Given the description of an element on the screen output the (x, y) to click on. 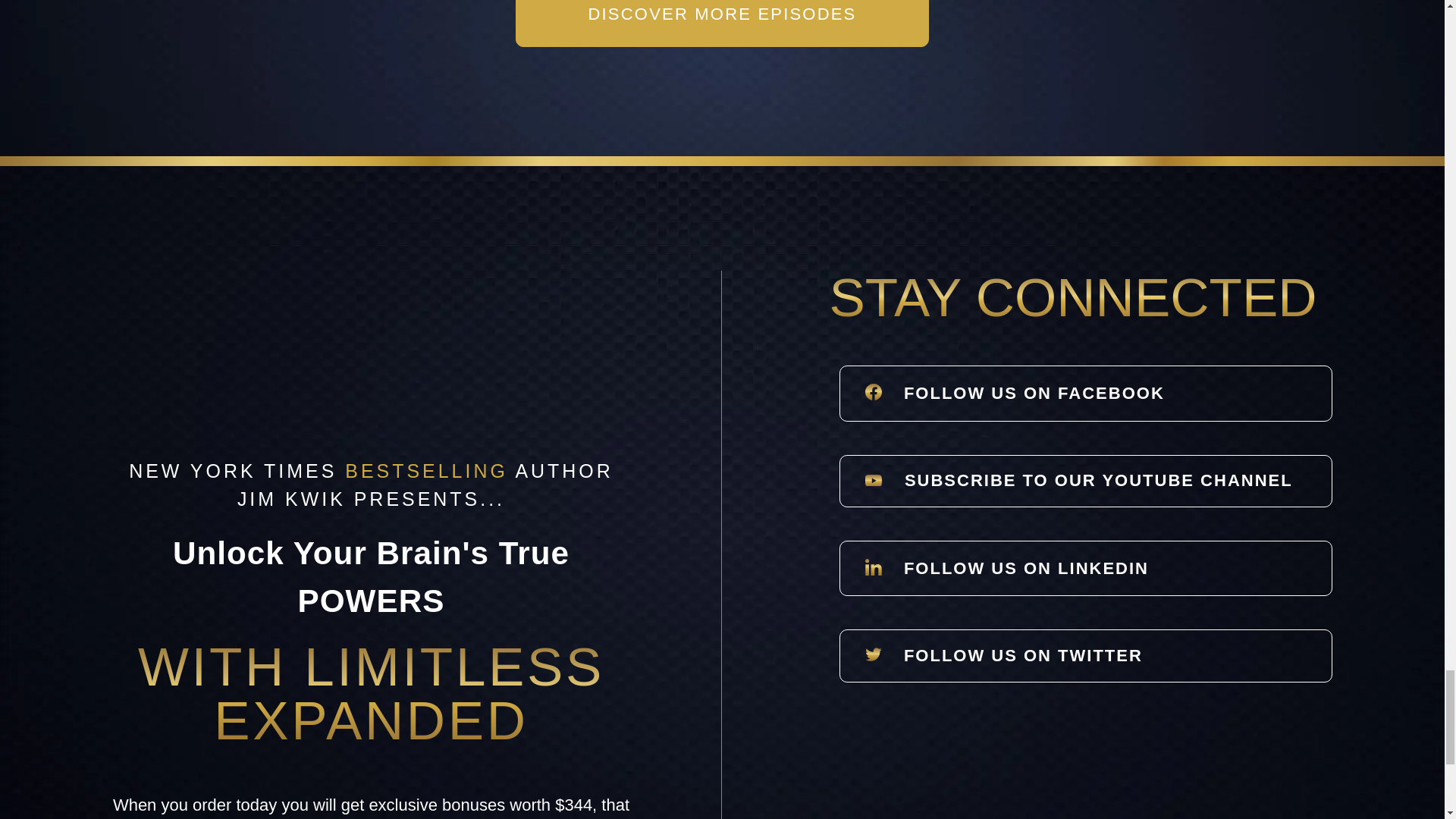
DISCOVER MORE EPISODES (721, 23)
SUBSCRIBE TO OUR YOUTUBE CHANNEL (1086, 480)
FOLLOW US ON FACEBOOK (1086, 392)
FOLLOW US ON LINKEDIN (1086, 568)
FOLLOW US ON TWITTER (1086, 655)
